Given the description of an element on the screen output the (x, y) to click on. 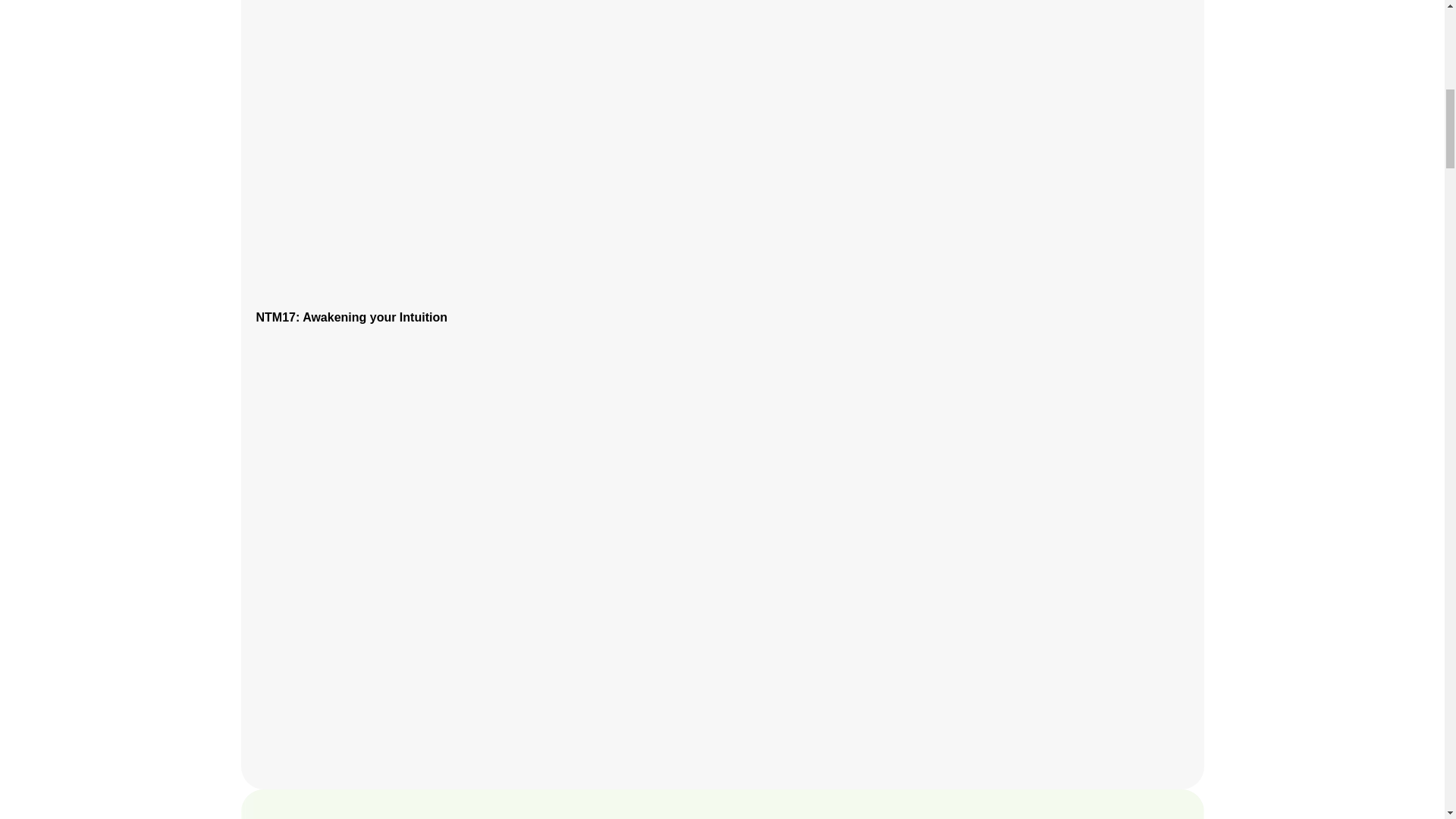
NTM17: Awakening your Intuition (351, 317)
